Given the description of an element on the screen output the (x, y) to click on. 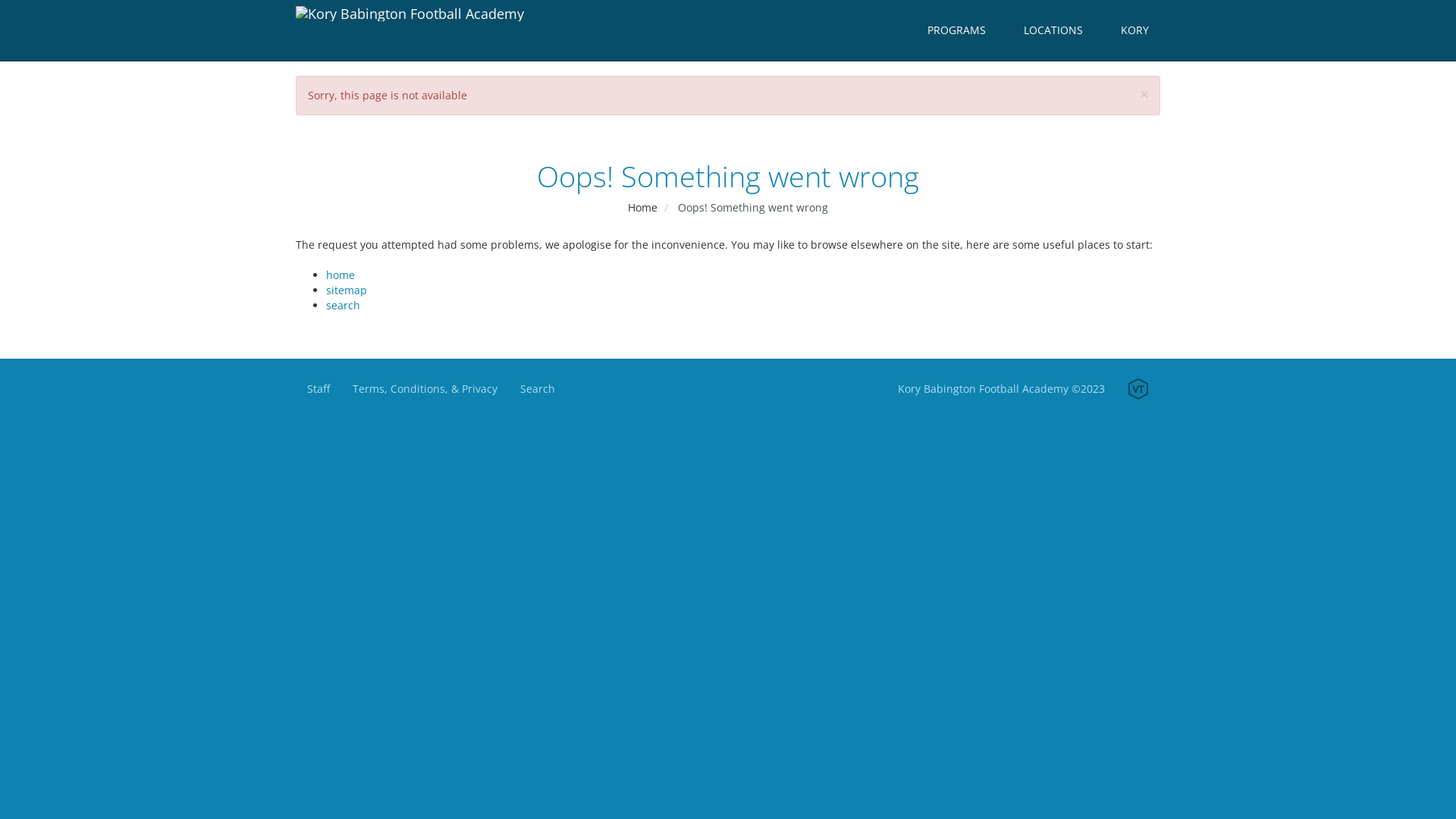
Kory Babington FootballAcademy Element type: text (409, 30)
sitemap Element type: text (346, 289)
Search Element type: text (537, 388)
Terms, Conditions, & Privacy Element type: text (424, 388)
LOCATIONS Element type: text (1053, 30)
search Element type: text (343, 305)
home Element type: text (340, 274)
PROGRAMS Element type: text (956, 30)
Staff Element type: text (318, 388)
Home Element type: text (642, 207)
KORY Element type: text (1134, 30)
